Given the description of an element on the screen output the (x, y) to click on. 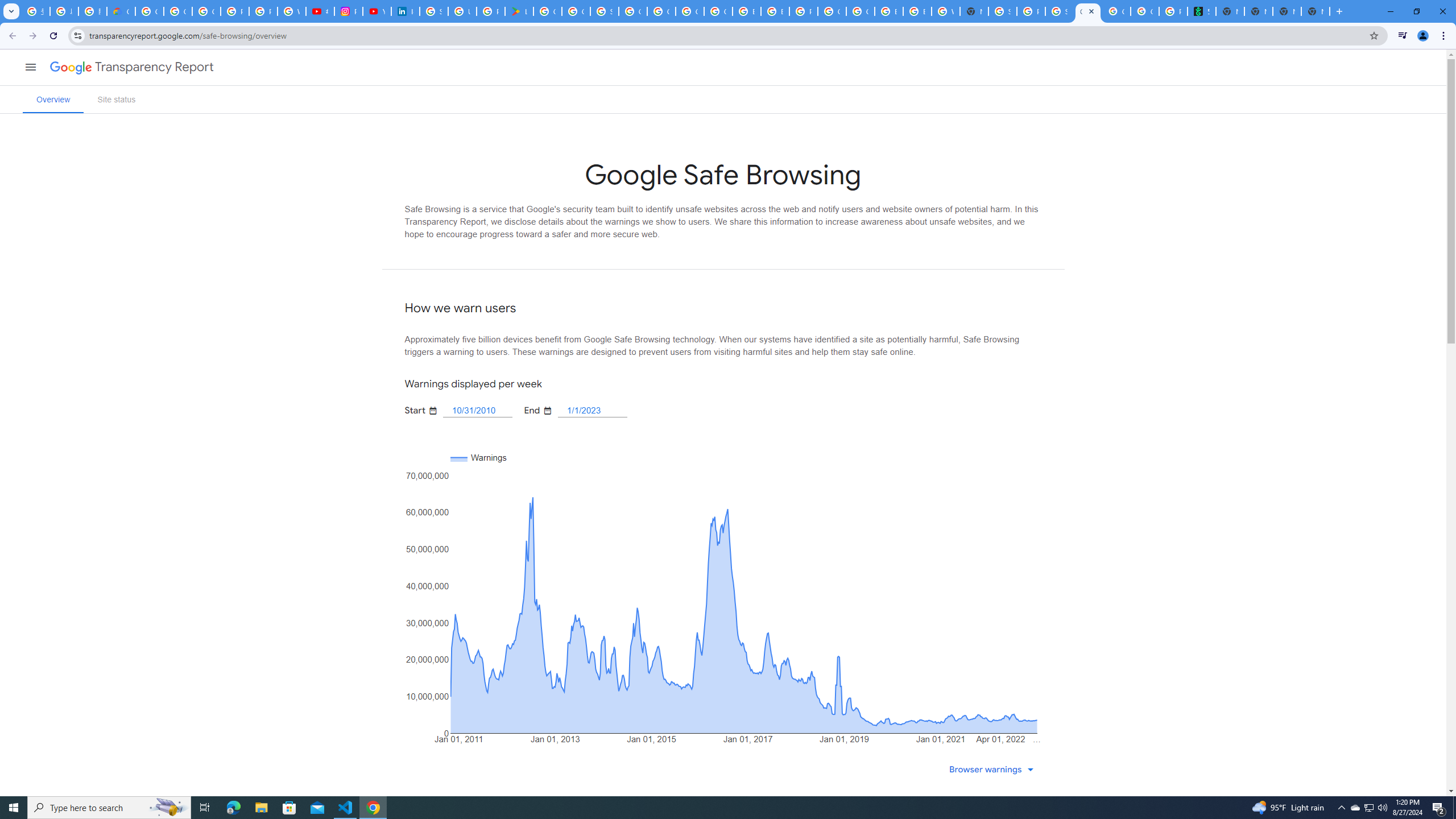
Google Cloud Platform (661, 11)
Open navigation menu (30, 66)
New Tab (973, 11)
Browse Chrome as a guest - Computer - Google Chrome Help (917, 11)
Google Cloud Platform (831, 11)
Google Workspace - Specific Terms (575, 11)
Transparency Report (154, 67)
YouTube Culture & Trends - On The Rise: Handcam Videos (377, 11)
